Given the description of an element on the screen output the (x, y) to click on. 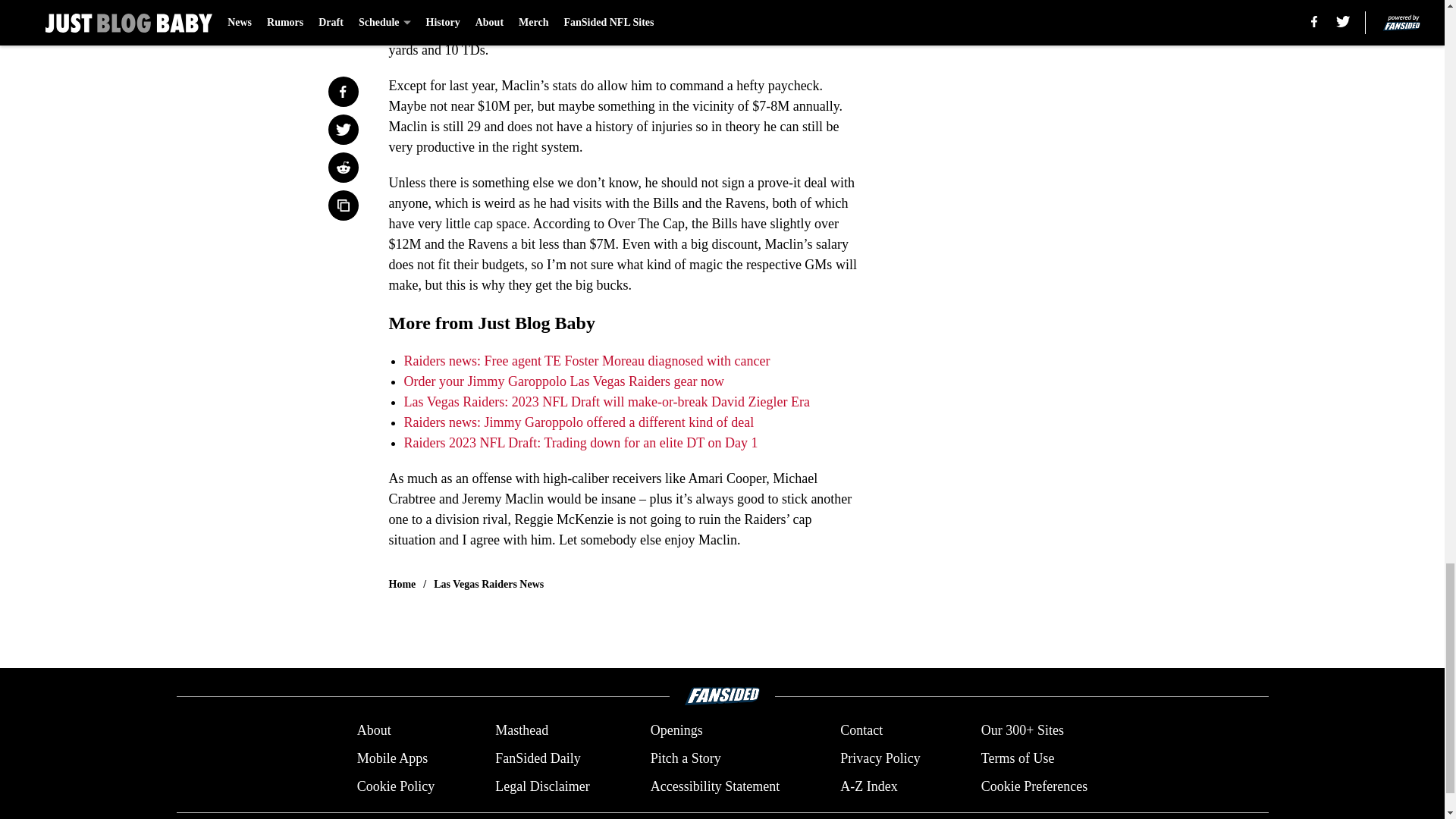
Contact (861, 730)
Cookie Policy (395, 786)
Legal Disclaimer (542, 786)
Order your Jimmy Garoppolo Las Vegas Raiders gear now (563, 381)
Pitch a Story (685, 758)
Masthead (521, 730)
Openings (676, 730)
Las Vegas Raiders News (488, 584)
A-Z Index (868, 786)
Home (401, 584)
FanSided Daily (537, 758)
Accessibility Statement (714, 786)
